Given the description of an element on the screen output the (x, y) to click on. 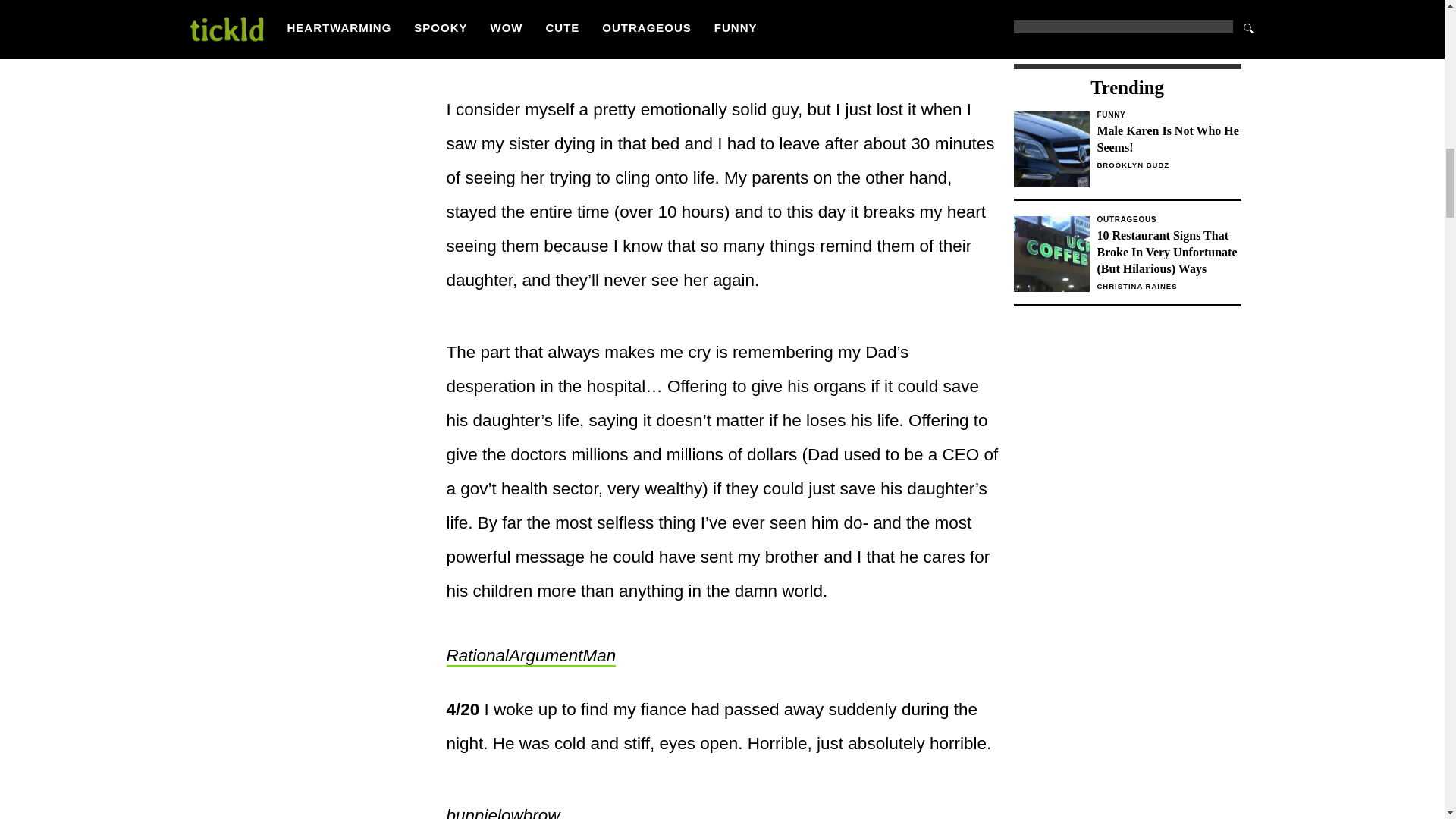
Male Karen Is Not Who He Seems! (1168, 139)
Funny (1168, 114)
bunnielowbrow (1126, 155)
Outrageous (502, 812)
RationalArgumentMan (1168, 219)
